Given the description of an element on the screen output the (x, y) to click on. 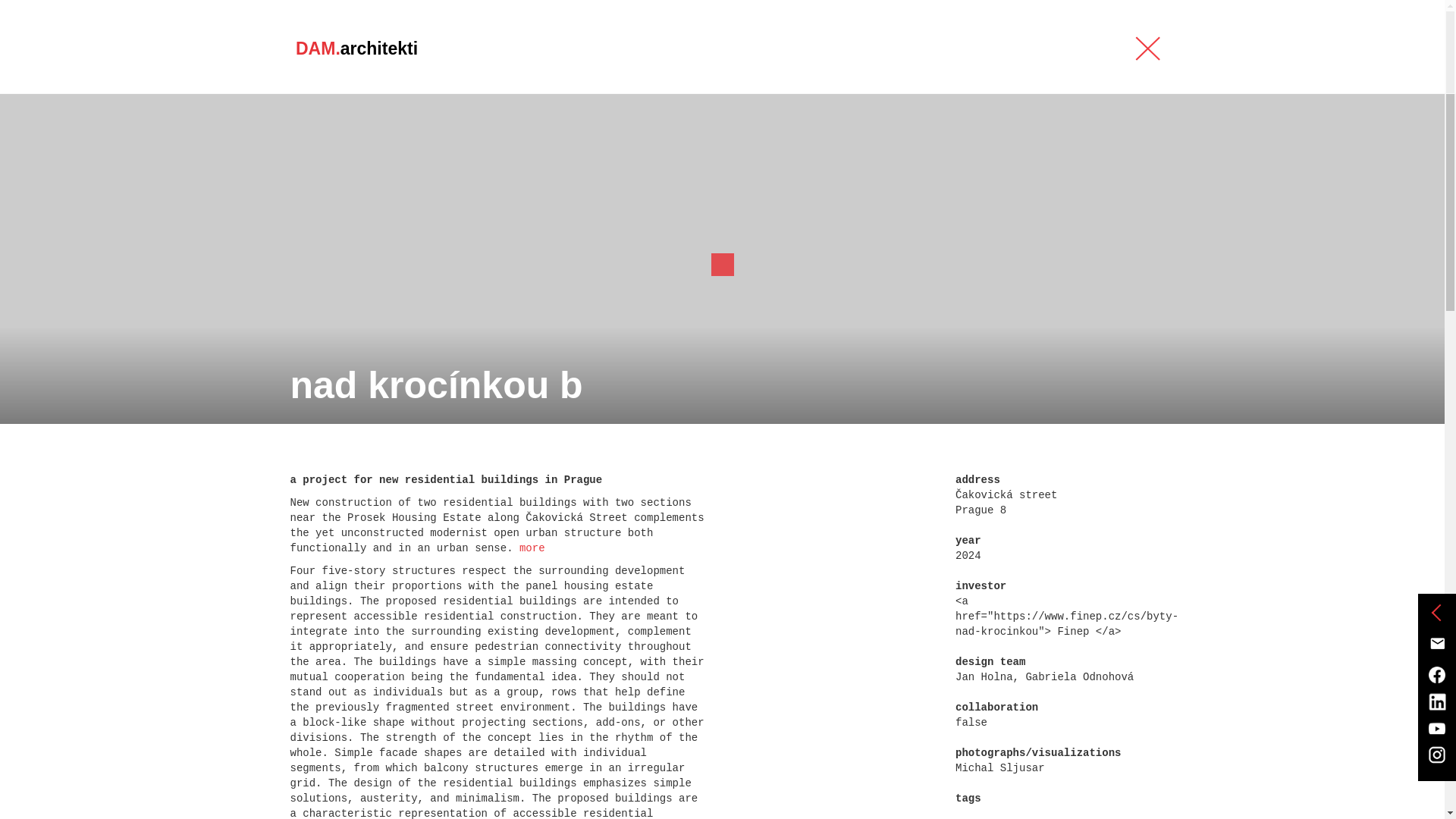
realized (359, 196)
academy (977, 48)
office (895, 48)
all (302, 196)
blog (821, 48)
DAM.architekti (356, 46)
introduction (629, 48)
small (751, 196)
portfolio (738, 48)
contact (1064, 48)
